Given the description of an element on the screen output the (x, y) to click on. 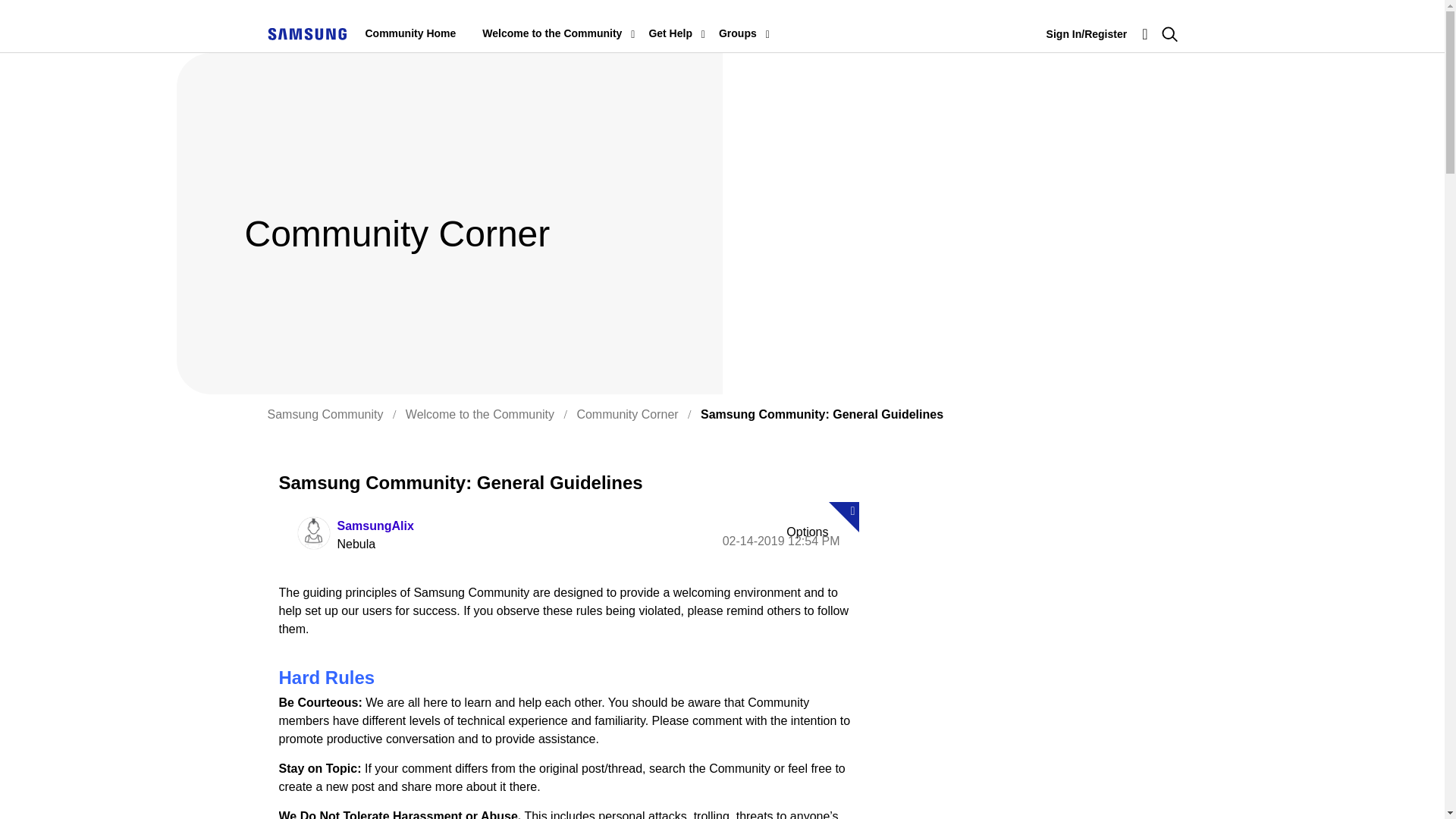
Samsung (306, 33)
Groups (738, 33)
Samsung (306, 33)
Welcome to the Community (551, 33)
Community Home (411, 33)
Get Help (670, 33)
Community Home (411, 33)
Get Help (670, 33)
Welcome to the Community (551, 33)
Groups (738, 33)
